Given the description of an element on the screen output the (x, y) to click on. 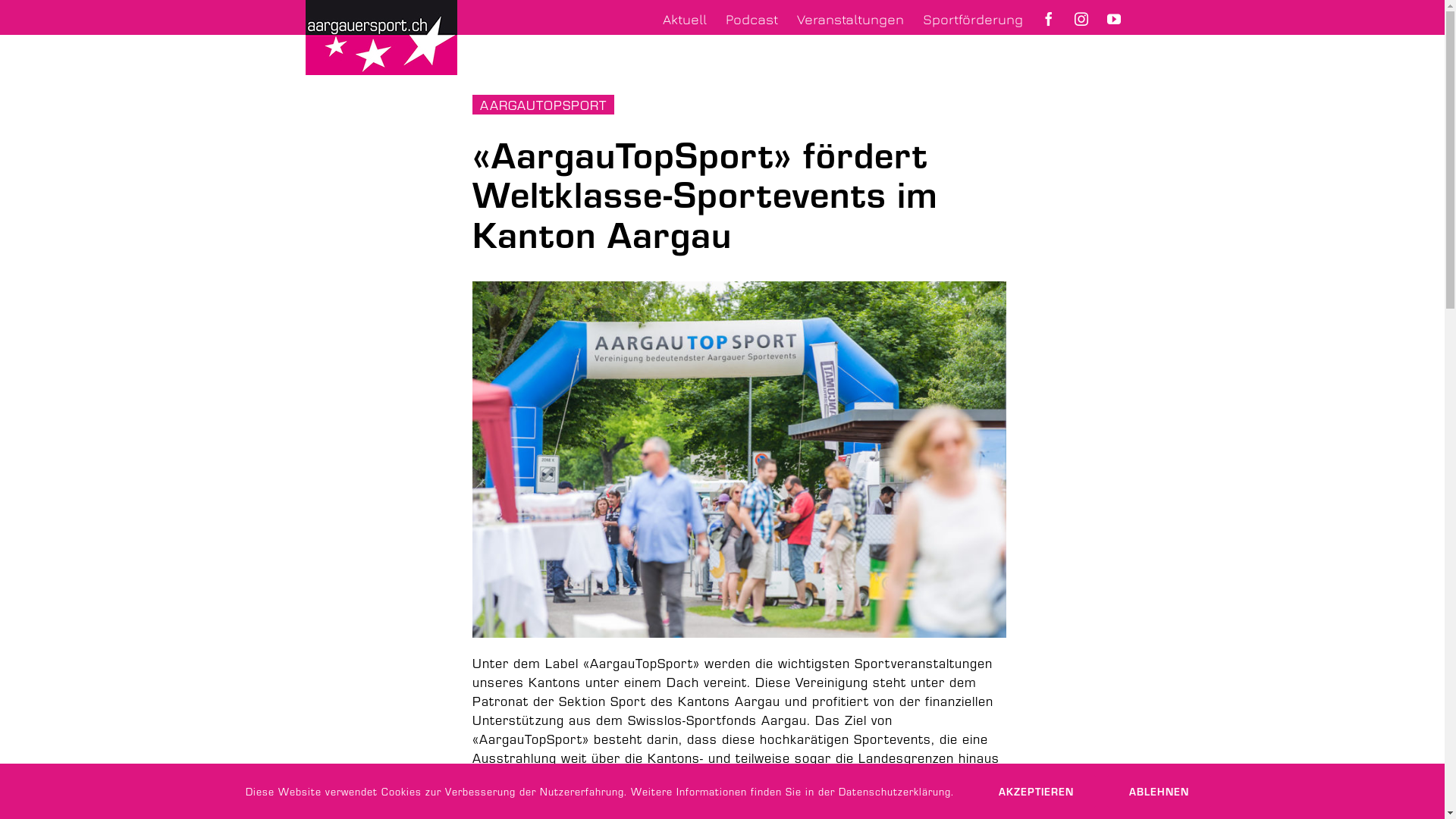
Aktuell Element type: text (684, 20)
Aargauersport auf Instagram Element type: text (1080, 20)
AKZEPTIEREN Element type: text (1035, 791)
Aargauersport auf YouTube Element type: text (1113, 20)
Aargauersport auf Facebook Element type: text (1048, 20)
ABLEHNEN Element type: text (1159, 791)
Veranstaltungen Element type: text (849, 20)
Pferderennen Aarau Element type: hover (738, 459)
Podcast Element type: text (750, 20)
